Given the description of an element on the screen output the (x, y) to click on. 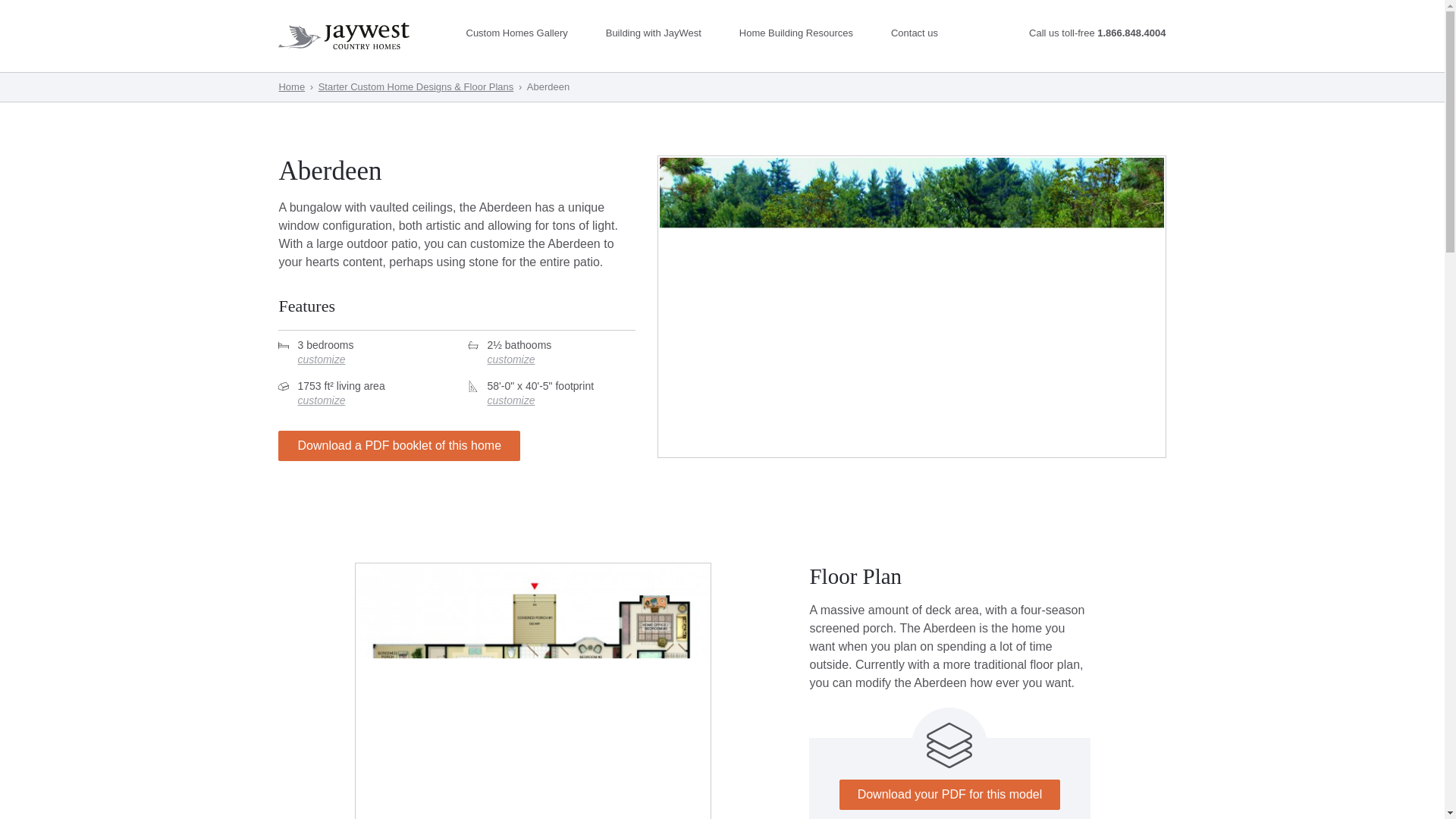
Call us toll-free 1.866.848.4004 (1097, 32)
customize (560, 400)
customize (371, 400)
Download a PDF booklet of this home (398, 445)
Contact us (920, 32)
Home Building Resources (801, 32)
customize (560, 359)
Home (291, 86)
Custom Homes Gallery (521, 32)
Building with JayWest (659, 32)
customize (371, 359)
